Given the description of an element on the screen output the (x, y) to click on. 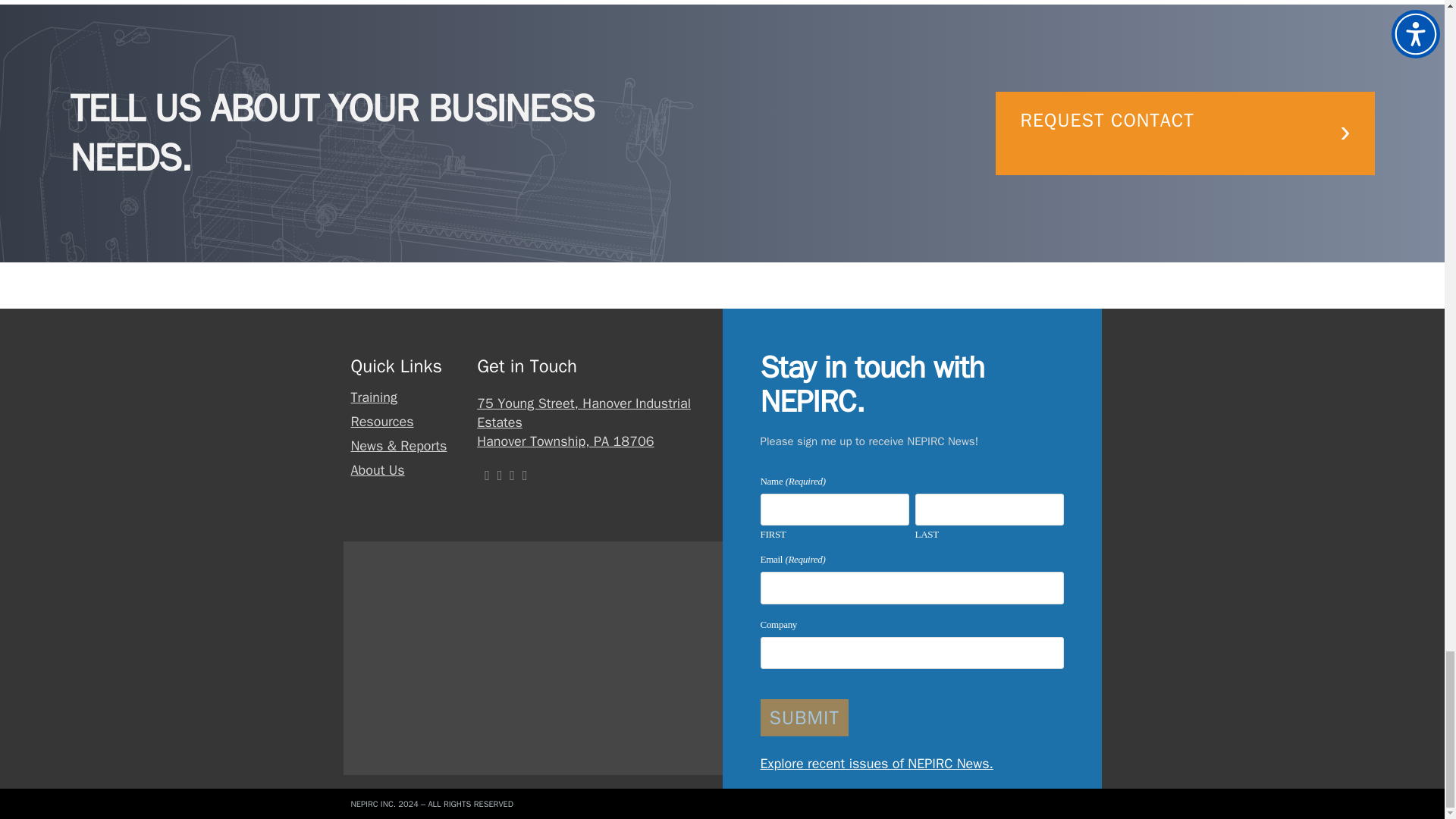
Submit (803, 717)
